Given the description of an element on the screen output the (x, y) to click on. 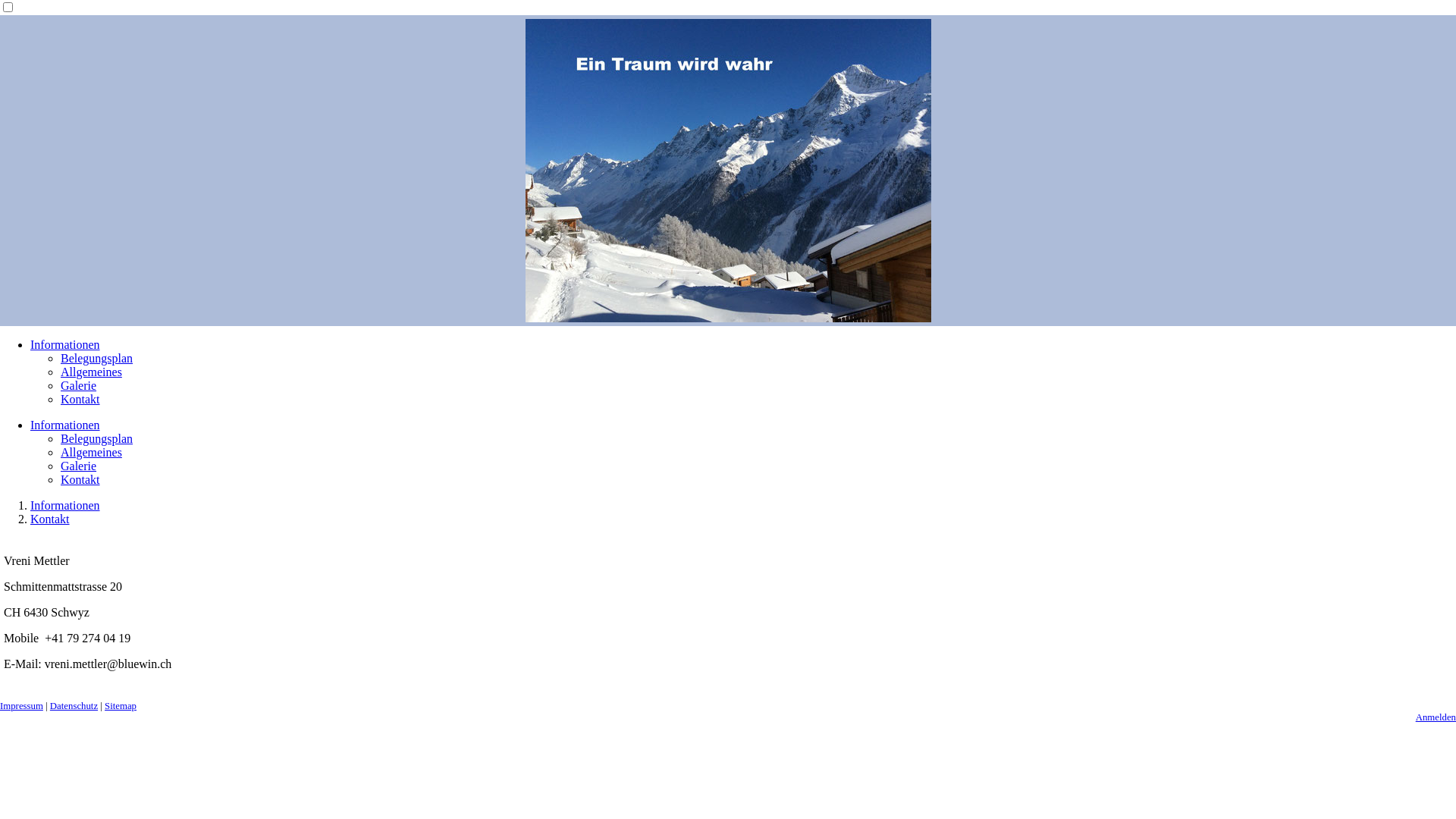
Galerie Element type: text (78, 385)
Impressum Element type: text (21, 705)
Informationen Element type: text (65, 504)
Informationen Element type: text (65, 344)
Informationen Element type: text (65, 424)
Galerie Element type: text (78, 465)
Allgemeines Element type: text (91, 371)
Datenschutz Element type: text (73, 705)
Allgemeines Element type: text (91, 451)
Belegungsplan Element type: text (96, 357)
Kontakt Element type: text (49, 518)
Belegungsplan Element type: text (96, 438)
Kontakt Element type: text (80, 398)
Sitemap Element type: text (120, 705)
Kontakt Element type: text (80, 479)
